Given the description of an element on the screen output the (x, y) to click on. 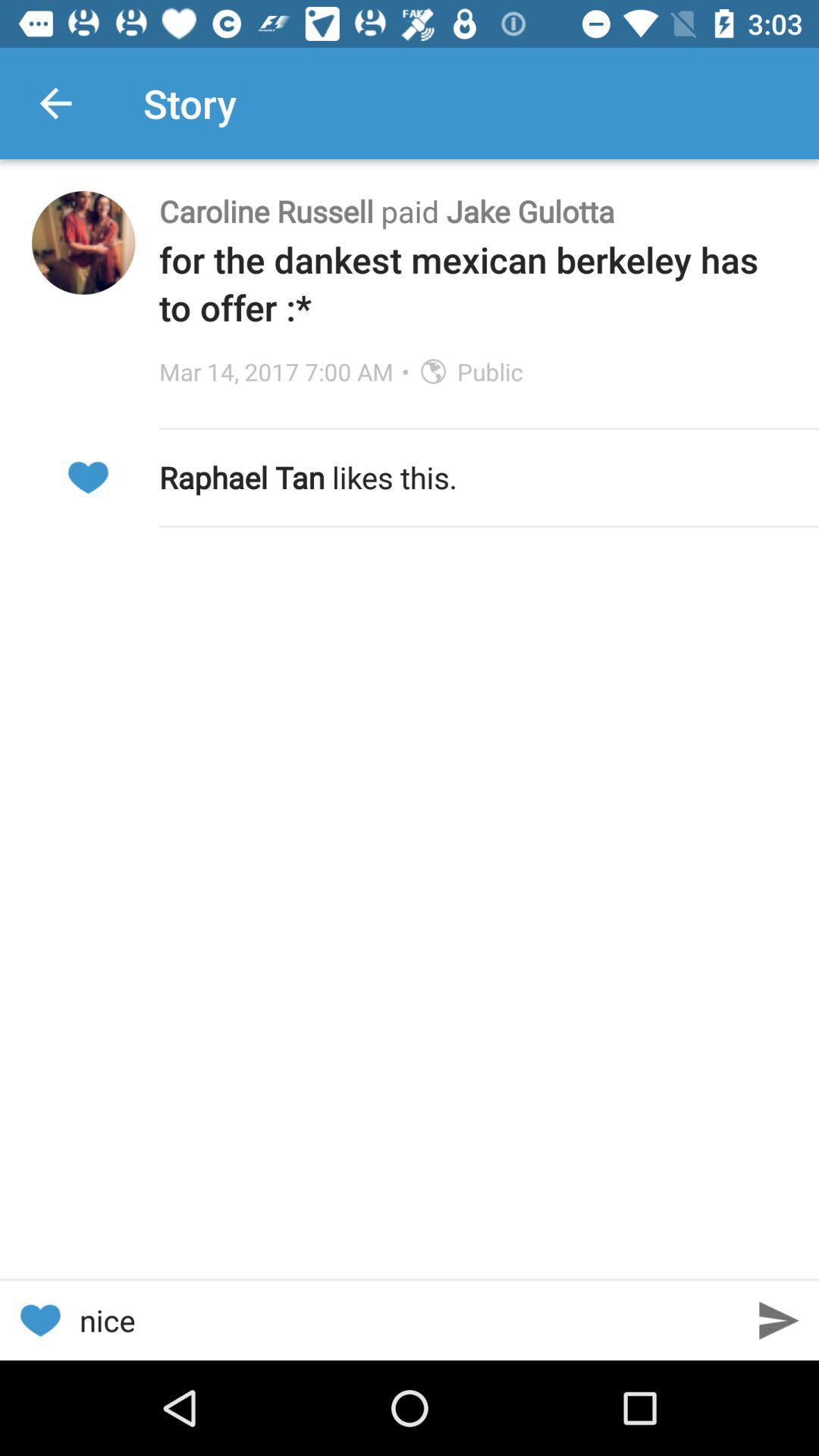
choose icon to the right of the nice icon (779, 1320)
